Given the description of an element on the screen output the (x, y) to click on. 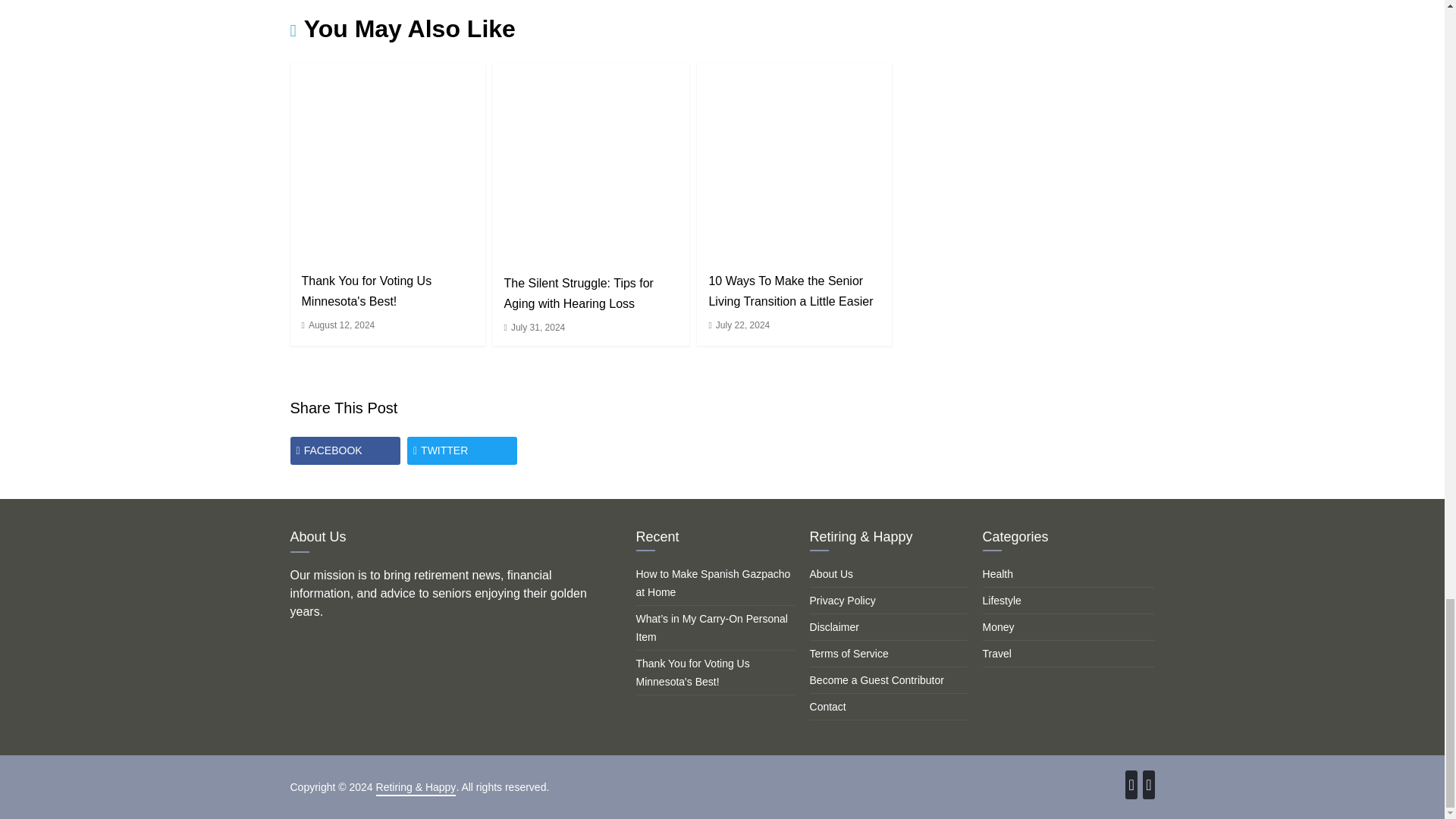
FACEBOOK (343, 450)
August 12, 2024 (341, 325)
The Silent Struggle: Tips for Aging with Hearing Loss (591, 162)
Thank You for Voting Us Minnesota's Best! (386, 160)
10 Ways To Make the Senior Living Transition a Little Easier (789, 290)
July 31, 2024 (537, 327)
July 22, 2024 (743, 325)
Thank You for Voting Us Minnesota's Best! (366, 290)
The Silent Struggle: Tips for Aging with Hearing Loss (578, 293)
TWITTER (461, 450)
